Given the description of an element on the screen output the (x, y) to click on. 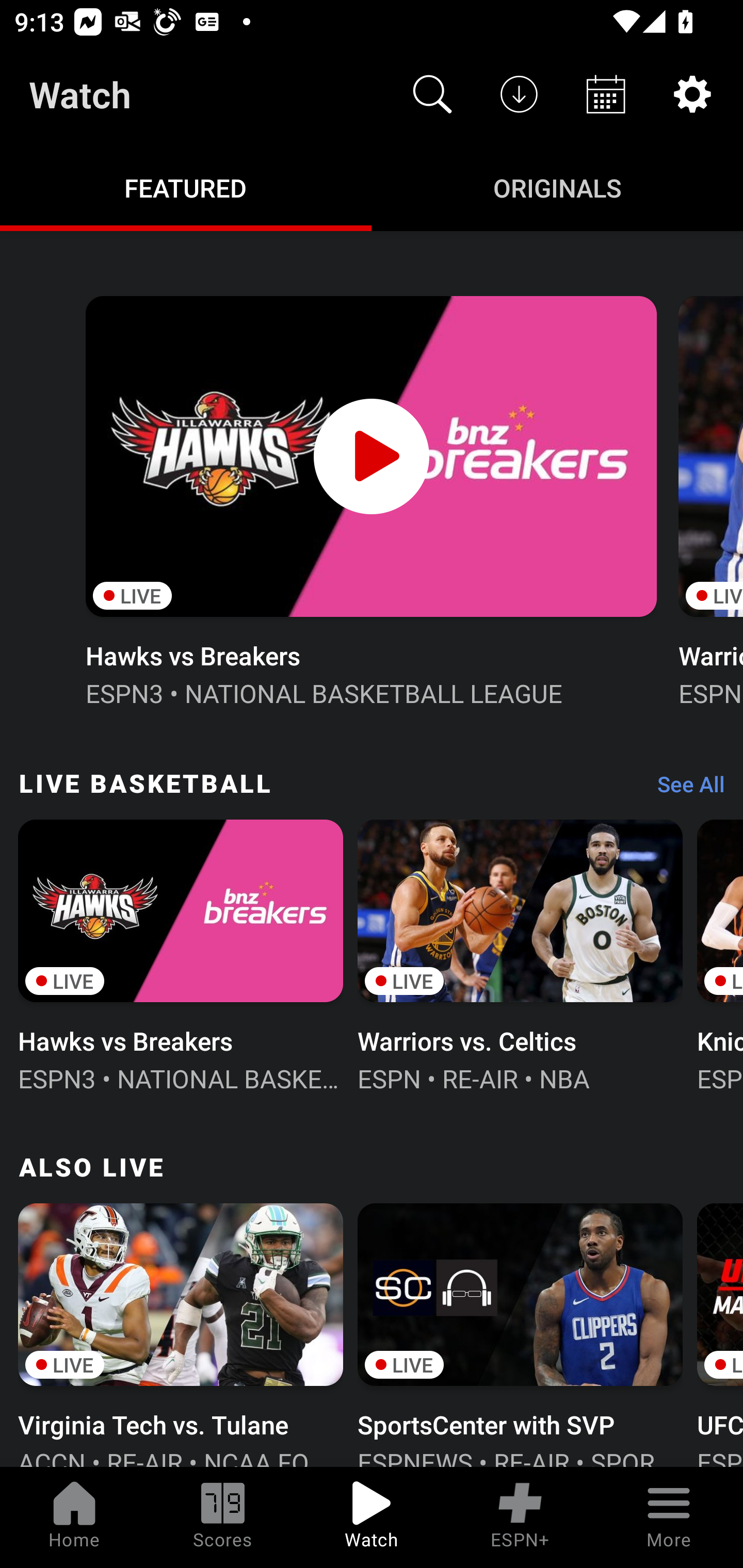
Search (432, 93)
Downloads (518, 93)
Schedule (605, 93)
Settings (692, 93)
Originals ORIGINALS (557, 187)
See All (683, 788)
LIVE Warriors vs. Celtics ESPN • RE-AIR • NBA (519, 954)
Home (74, 1517)
Scores (222, 1517)
ESPN+ (519, 1517)
More (668, 1517)
